Given the description of an element on the screen output the (x, y) to click on. 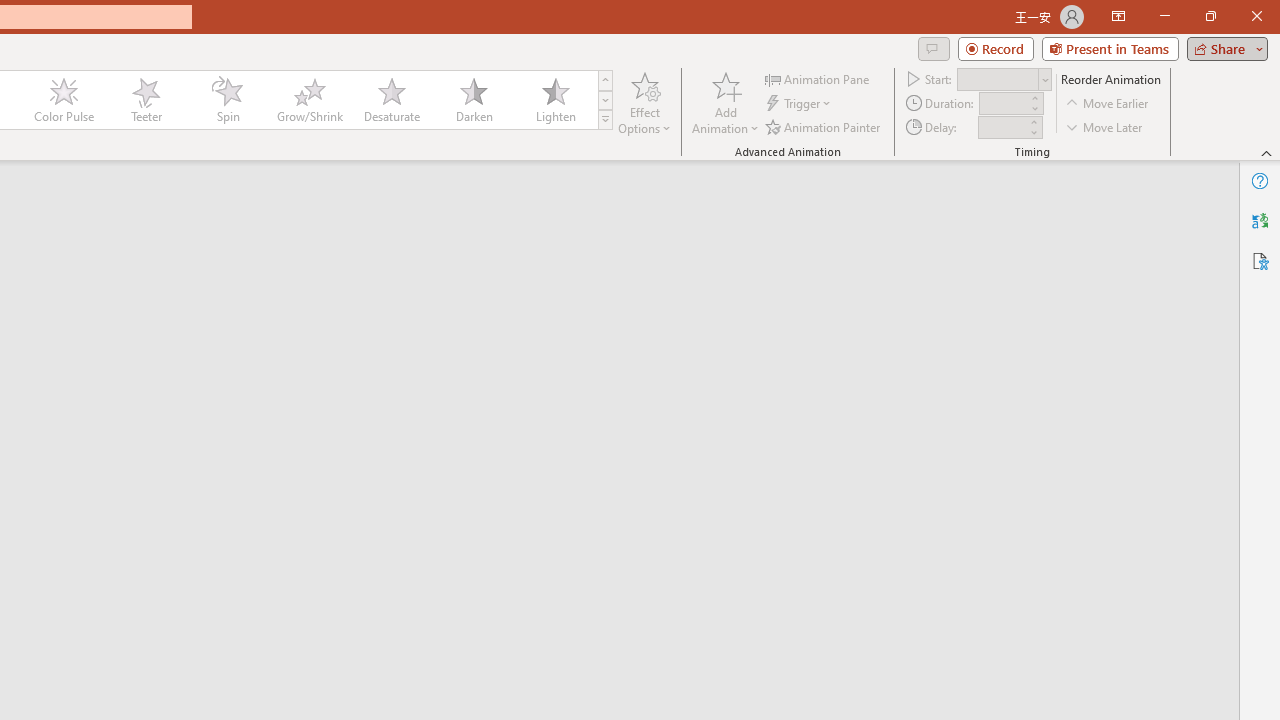
Animation Styles (605, 120)
Move Earlier (1107, 103)
Move Later (1105, 126)
Animation Duration (1003, 103)
Add Animation (725, 102)
Lighten (555, 100)
Trigger (799, 103)
